Given the description of an element on the screen output the (x, y) to click on. 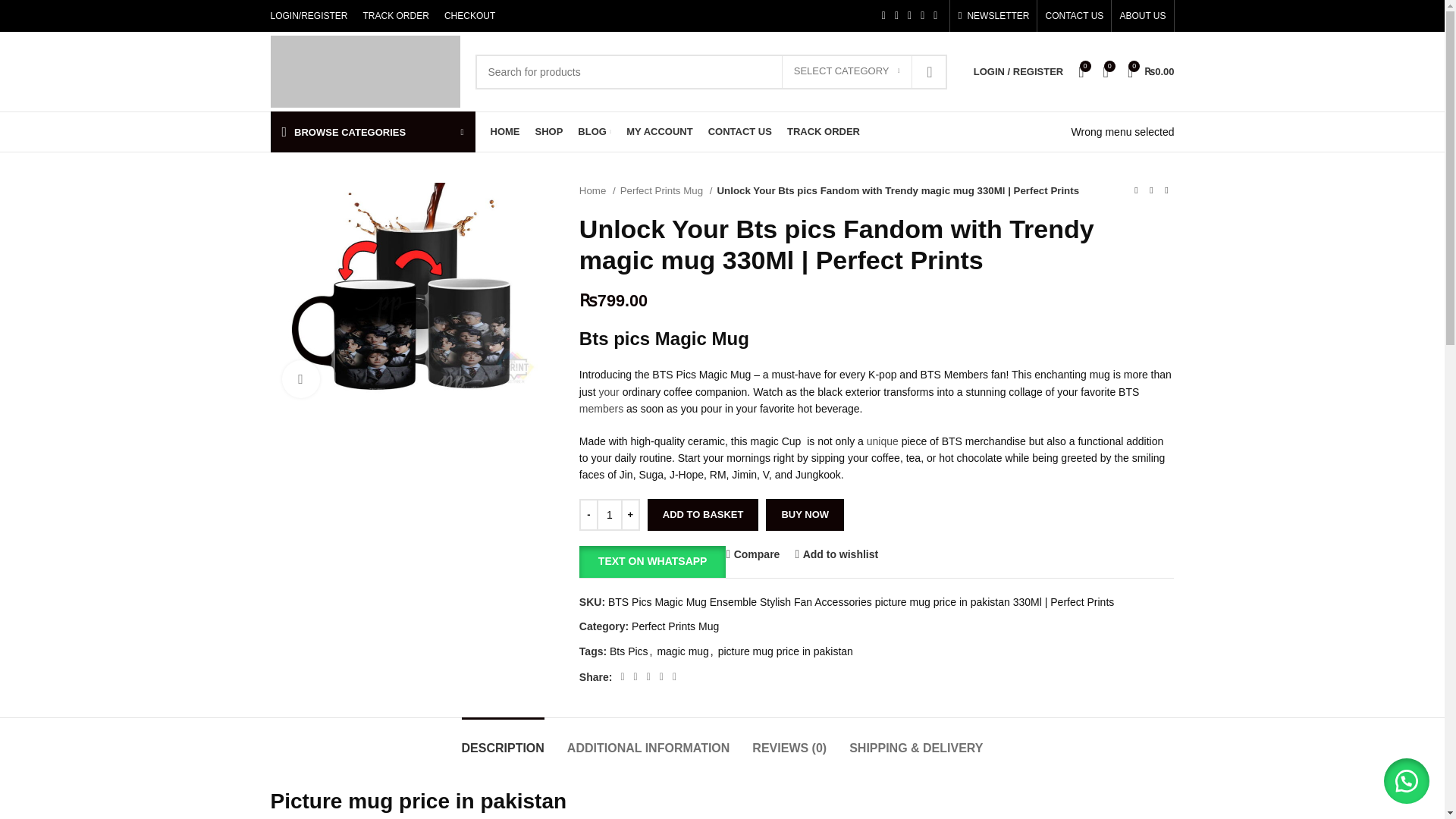
SELECT CATEGORY (846, 71)
TRACK ORDER (395, 15)
ABOUT US (1142, 15)
Shopping cart (1150, 71)
My account (1018, 71)
CHECKOUT (469, 15)
CONTACT US (1074, 15)
Search for products (710, 71)
SEARCH (929, 71)
NEWSLETTER (993, 15)
